Given the description of an element on the screen output the (x, y) to click on. 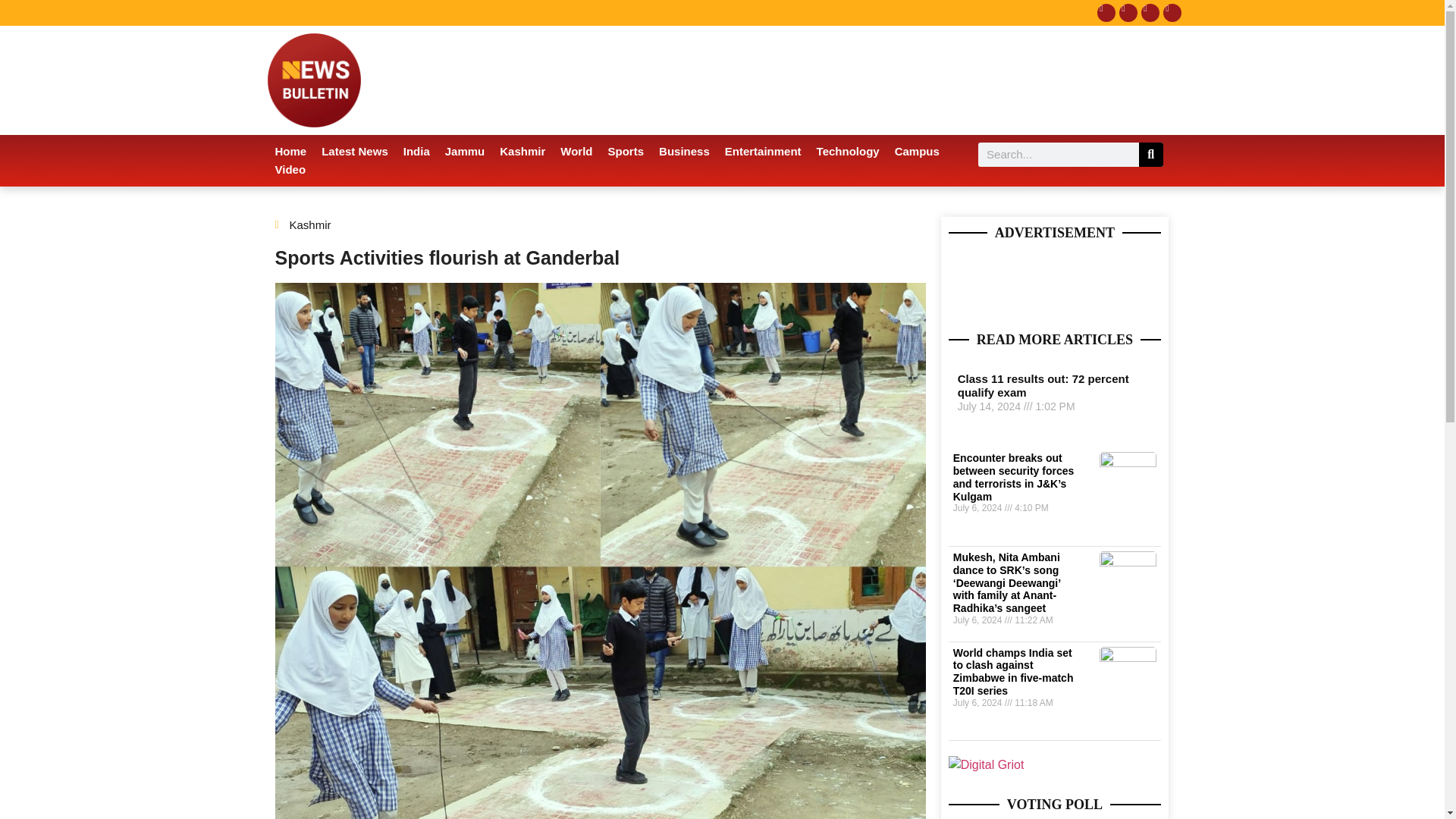
Entertainment (763, 151)
Campus (916, 151)
Home (290, 151)
Technology (847, 151)
India (417, 151)
Business (683, 151)
Kashmir (522, 151)
Video (289, 169)
World (576, 151)
Jammu (465, 151)
Latest News (355, 151)
Sports (625, 151)
